Given the description of an element on the screen output the (x, y) to click on. 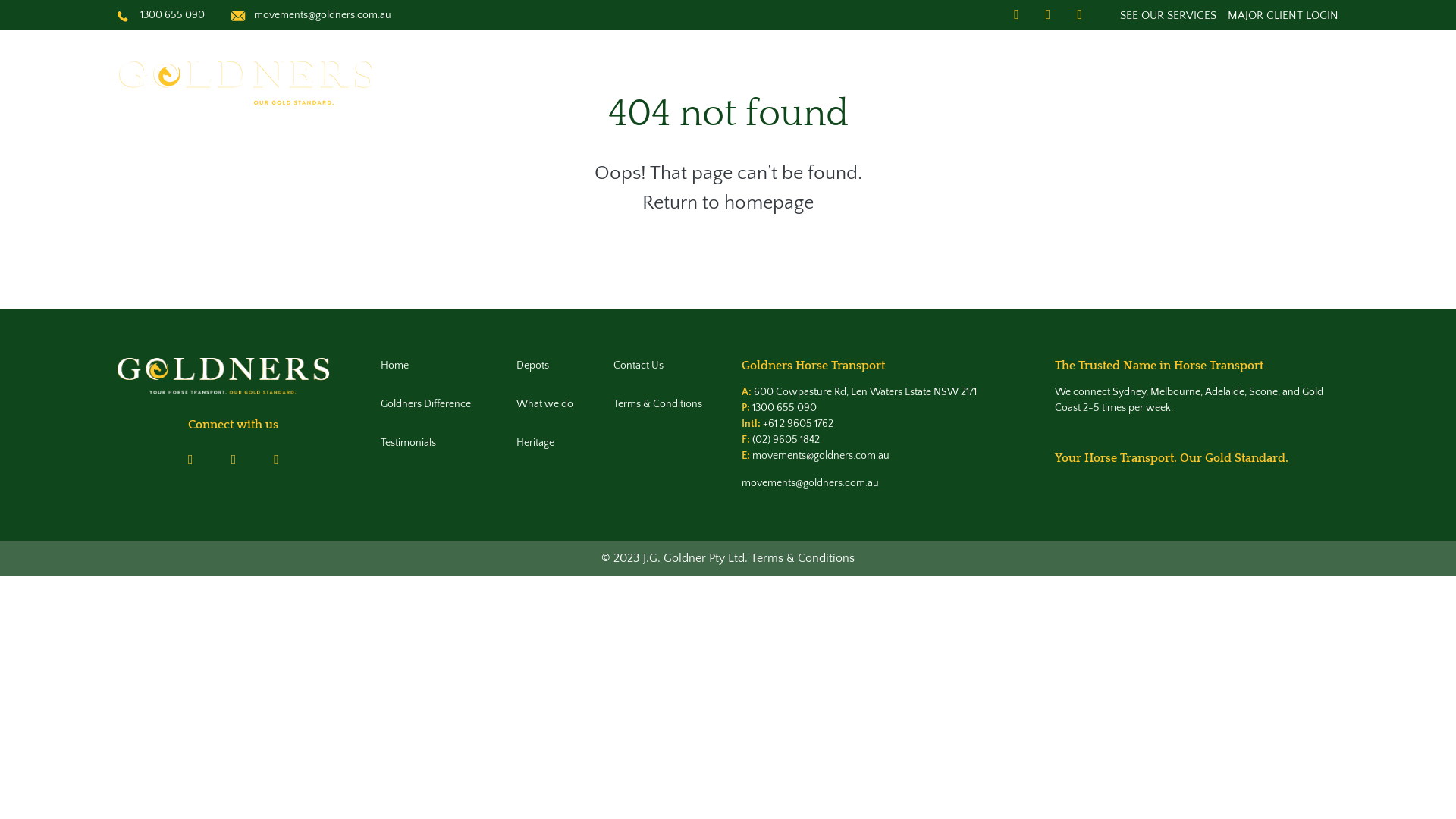
GOLDNERS DIFFERENCE Element type: text (1165, 86)
Depots Element type: text (555, 365)
Heritage Element type: text (555, 443)
movements@goldners.com.au Element type: text (322, 15)
CONTACT US Element type: text (1302, 86)
WHAT WE DO Element type: text (1019, 86)
Contact Us Element type: text (661, 365)
Goldners Difference Element type: text (428, 403)
Testimonials Element type: text (428, 443)
1300 655 090 Element type: text (784, 407)
Terms & Conditions Element type: text (661, 403)
Home Element type: text (428, 365)
Terms & Conditions Element type: text (802, 557)
MAJOR CLIENT LOGIN Element type: text (1282, 15)
What we do Element type: text (555, 403)
movements@goldners.com.au Element type: text (820, 454)
1300 655 090 Element type: text (172, 15)
Return to homepage Element type: text (727, 202)
+61 2 9605 1762 Element type: text (797, 423)
SEE OUR SERVICES Element type: text (1168, 15)
